Given the description of an element on the screen output the (x, y) to click on. 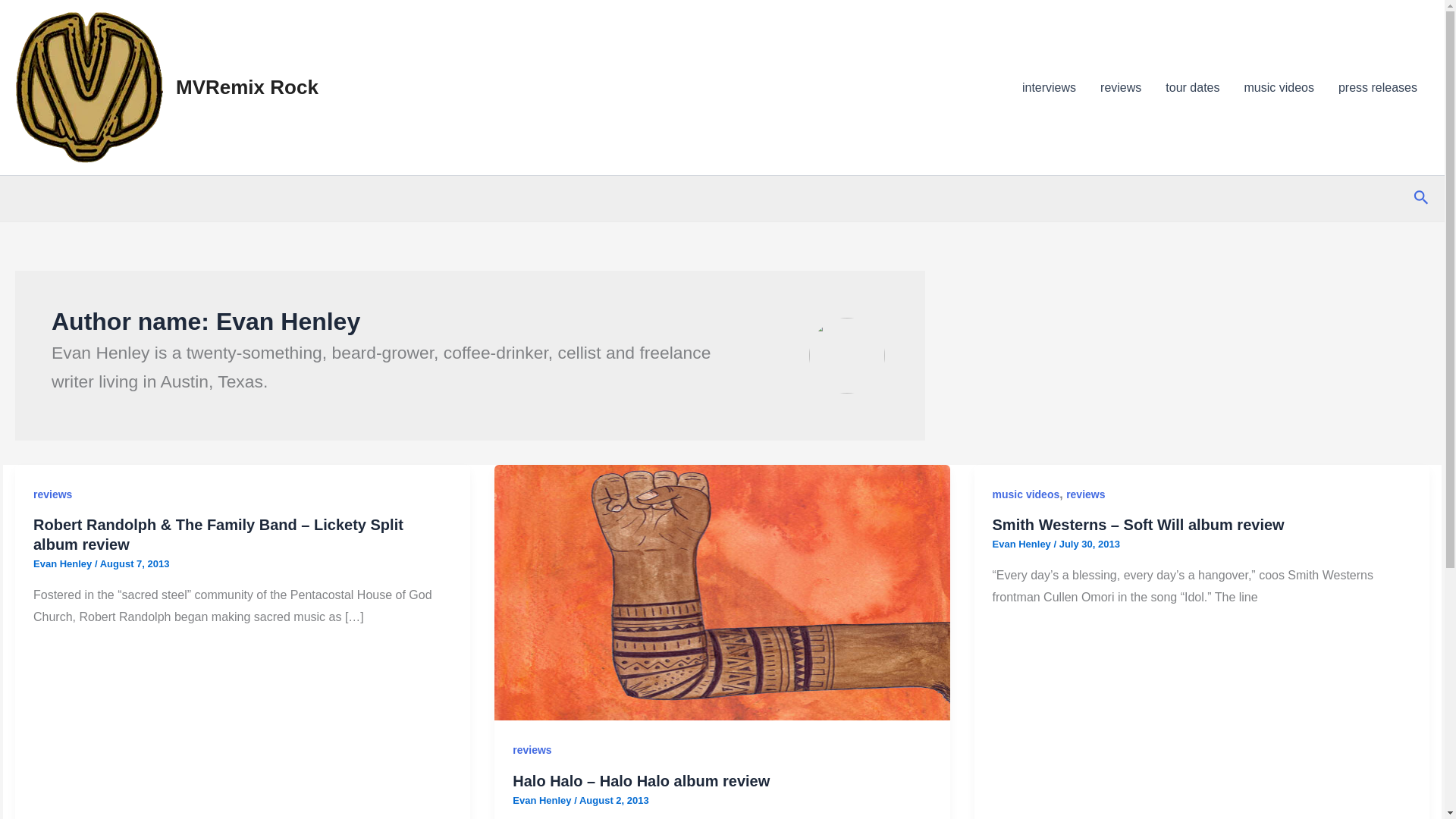
reviews (52, 494)
Evan Henley (63, 563)
interviews (1048, 87)
View all posts by Evan Henley (63, 563)
reviews (531, 749)
music videos (1025, 494)
music videos (1277, 87)
tour dates (1192, 87)
reviews (1085, 494)
Evan Henley (1023, 543)
